Given the description of an element on the screen output the (x, y) to click on. 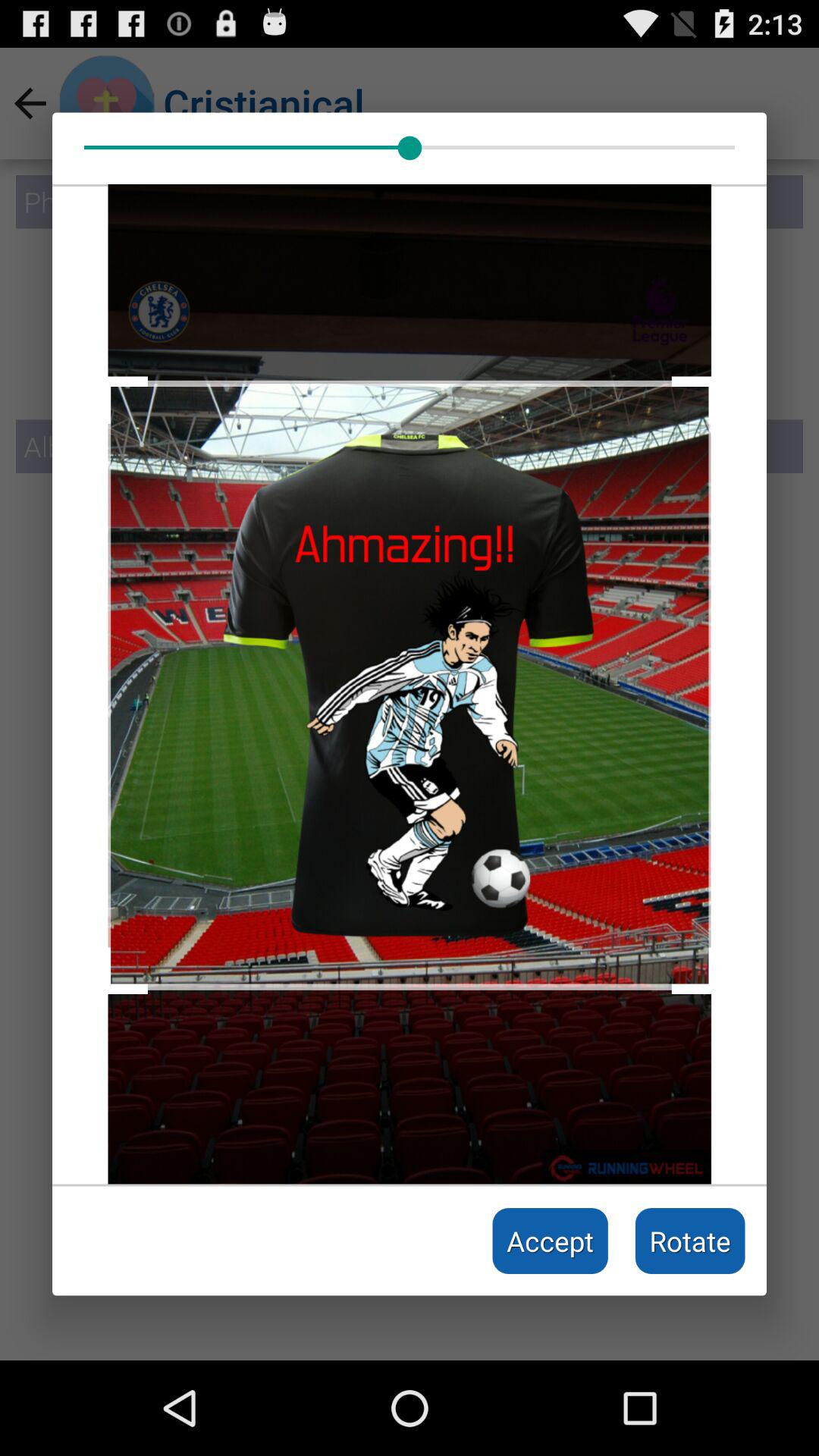
select the item next to the rotate (549, 1240)
